Given the description of an element on the screen output the (x, y) to click on. 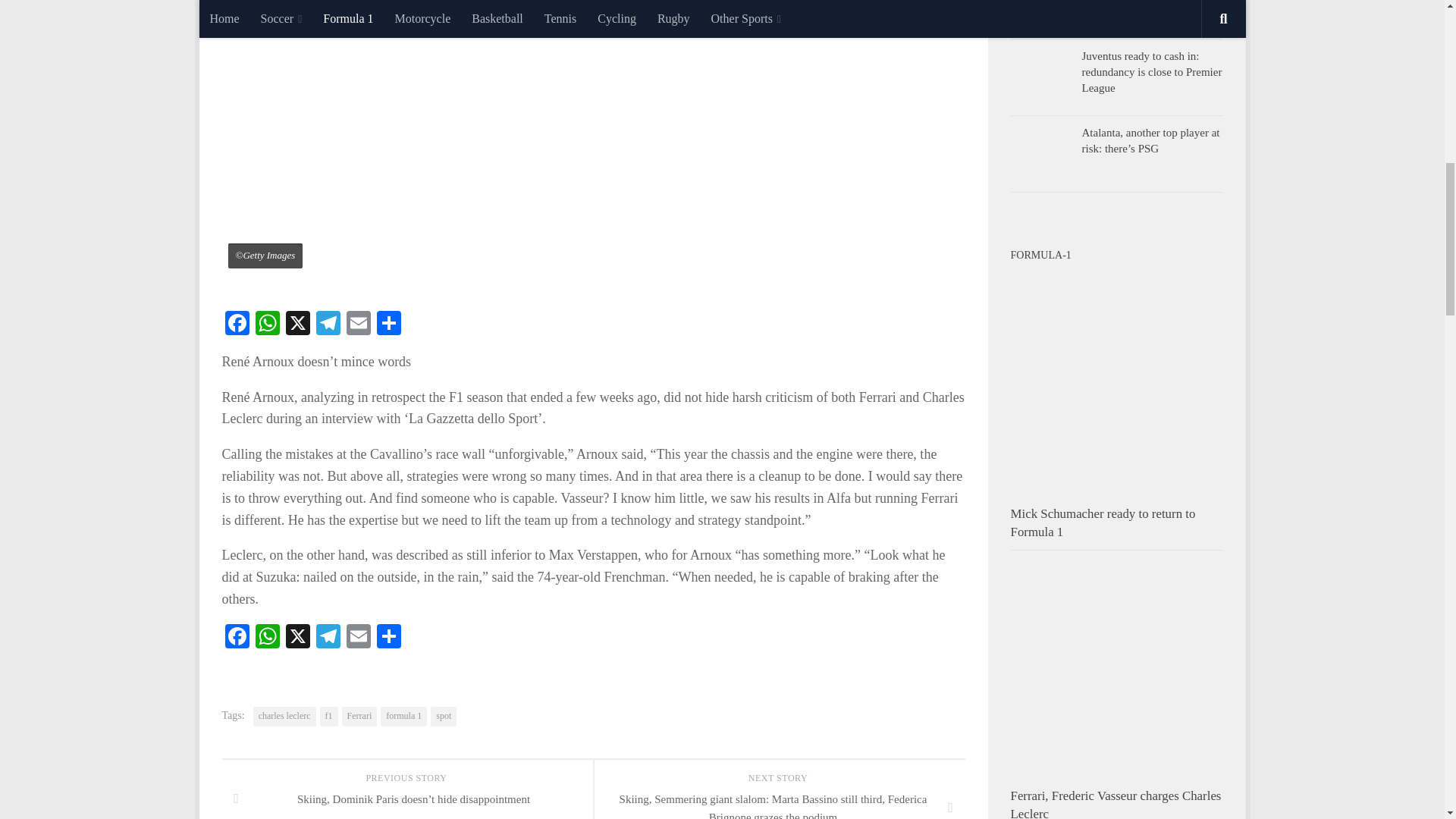
Facebook (236, 637)
X (297, 325)
WhatsApp (266, 325)
Email (357, 325)
Telegram (327, 325)
X (297, 637)
Telegram (327, 637)
Email (357, 637)
Telegram (327, 325)
WhatsApp (266, 325)
